Given the description of an element on the screen output the (x, y) to click on. 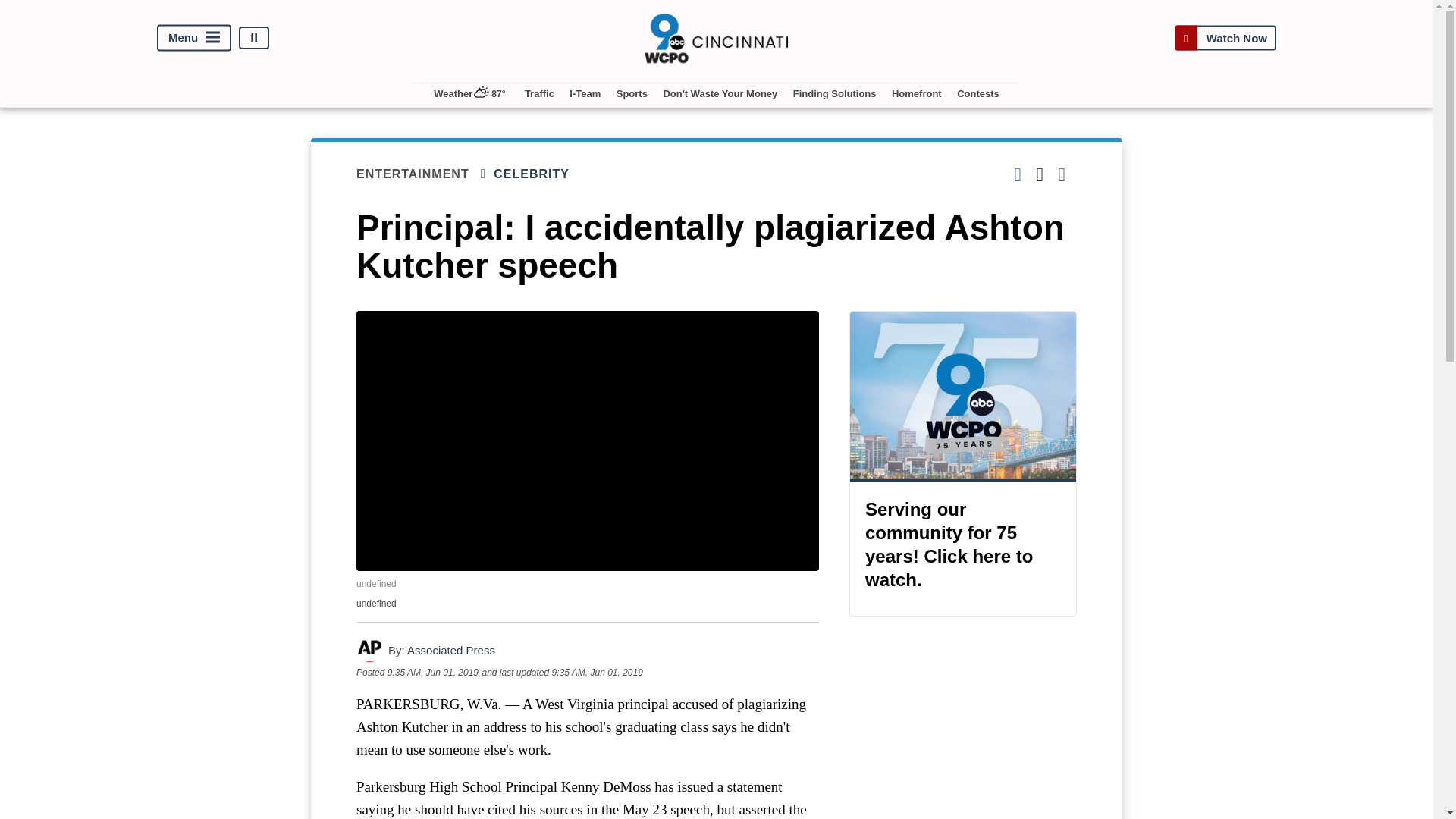
Watch Now (1224, 38)
Menu (194, 38)
